Given the description of an element on the screen output the (x, y) to click on. 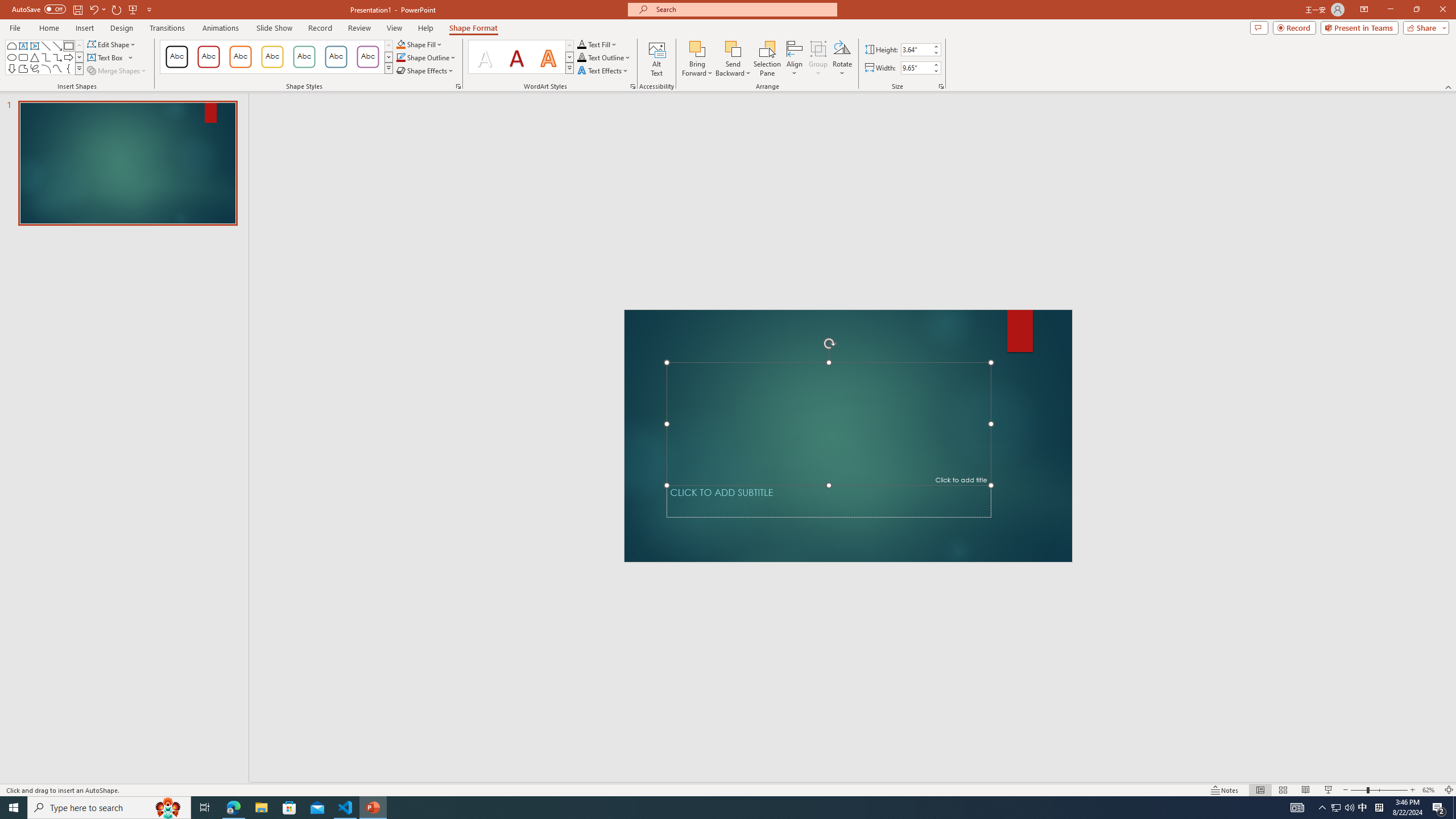
Fill: White, Text color 1; Shadow (484, 56)
Send Backward (733, 48)
AutomationID: TextStylesGallery (521, 56)
Text Outline RGB(0, 0, 0) (581, 56)
